Given the description of an element on the screen output the (x, y) to click on. 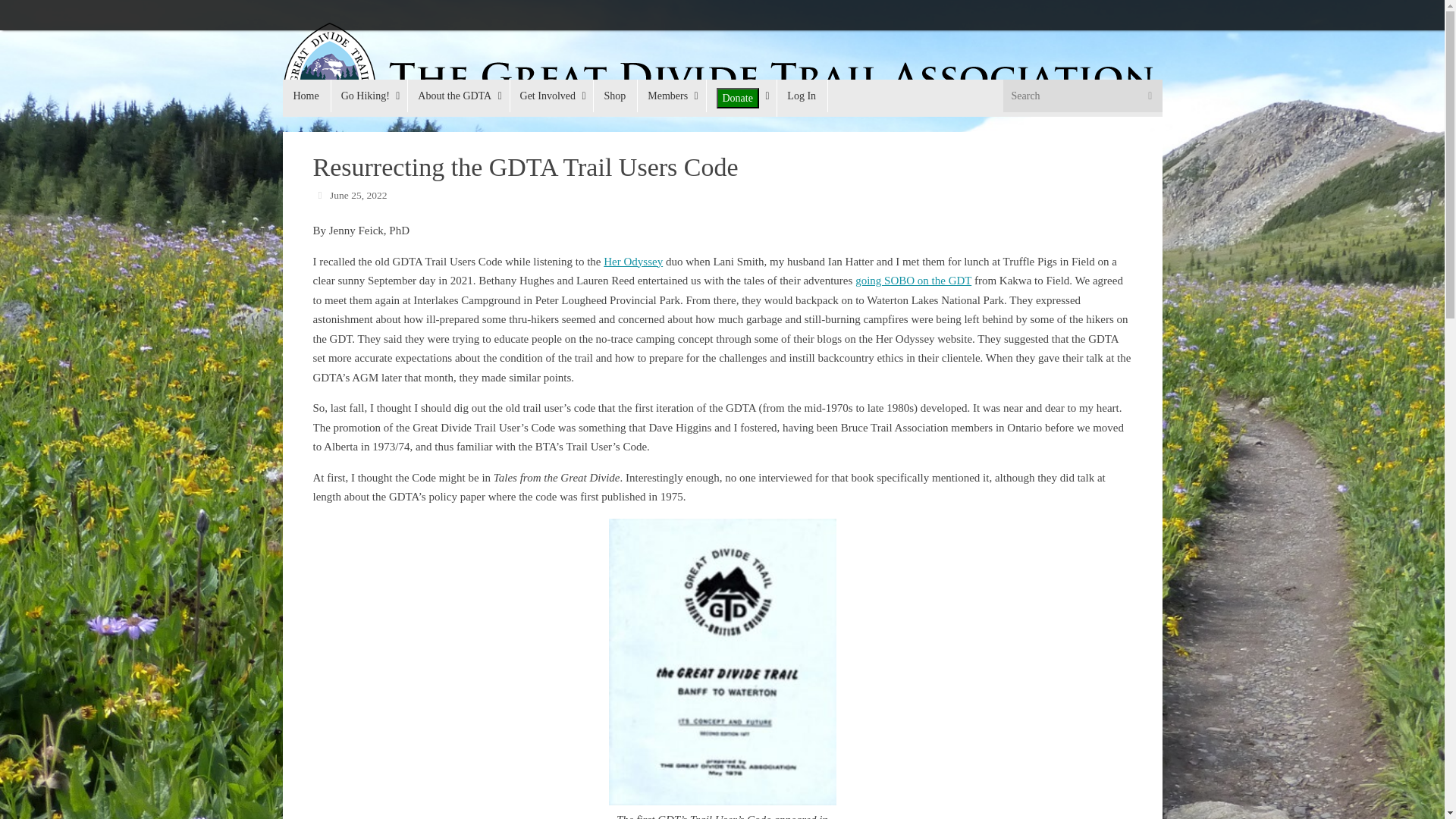
Go Hiking! (368, 95)
Date (319, 194)
Shop (614, 95)
Get Involved (551, 95)
The Great Divide Trail Association (718, 67)
About the GDTA (457, 95)
Members (670, 95)
Home (306, 95)
